Given the description of an element on the screen output the (x, y) to click on. 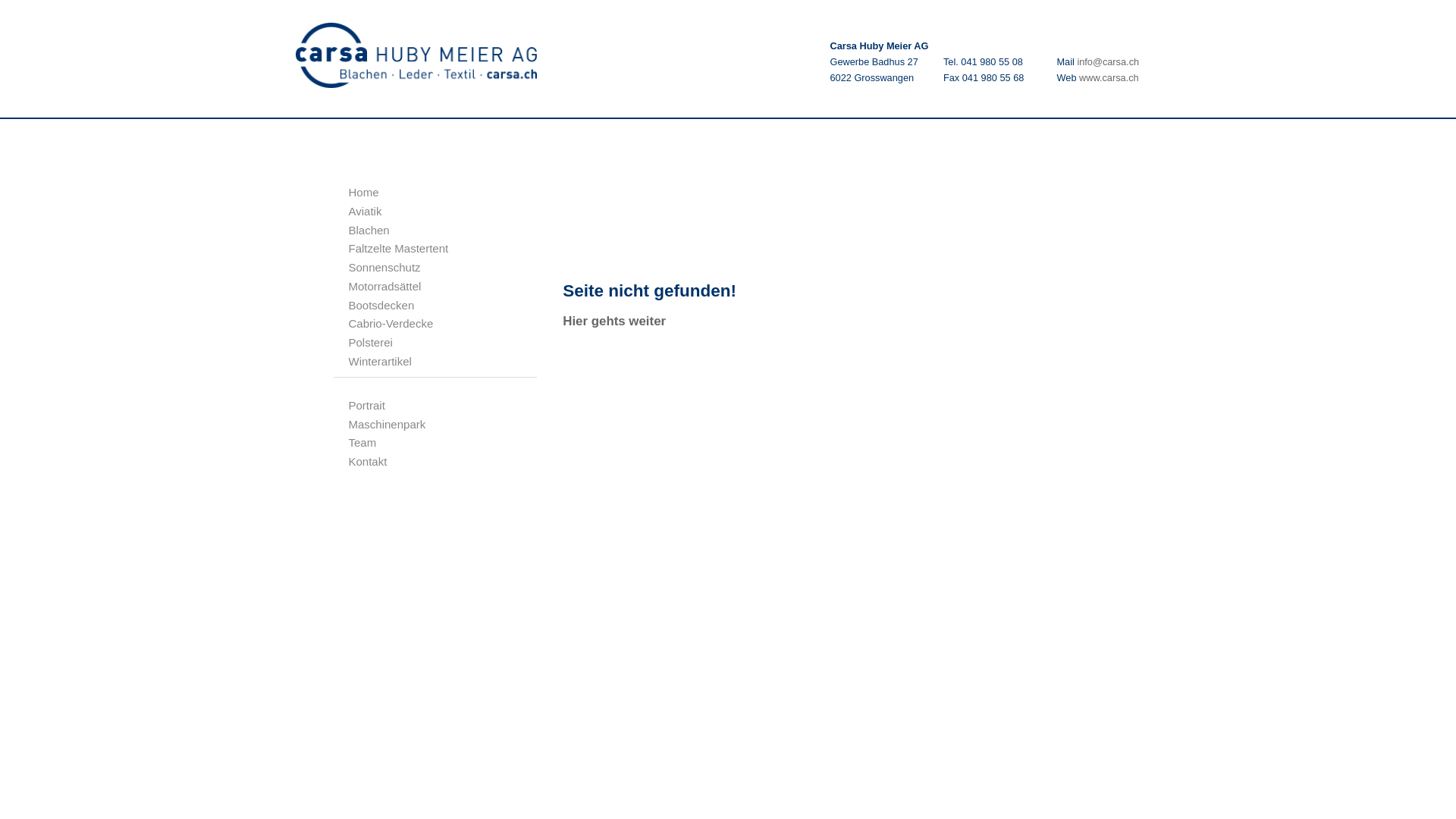
Team Element type: text (362, 442)
info@carsa.ch Element type: text (1107, 61)
Kontakt Element type: text (367, 461)
Hier gehts weiter Element type: text (613, 320)
Winterartikel Element type: text (379, 360)
Portrait Element type: text (366, 404)
Aviatik Element type: text (365, 210)
Sonnenschutz Element type: text (384, 266)
Maschinenpark Element type: text (387, 423)
Cabrio-Verdecke Element type: text (390, 322)
Polsterei Element type: text (370, 341)
Home Element type: text (363, 191)
www.carsa.ch Element type: text (1109, 77)
Bootsdecken Element type: text (381, 304)
Faltzelte Mastertent Element type: text (398, 247)
Blachen Element type: text (368, 229)
